Given the description of an element on the screen output the (x, y) to click on. 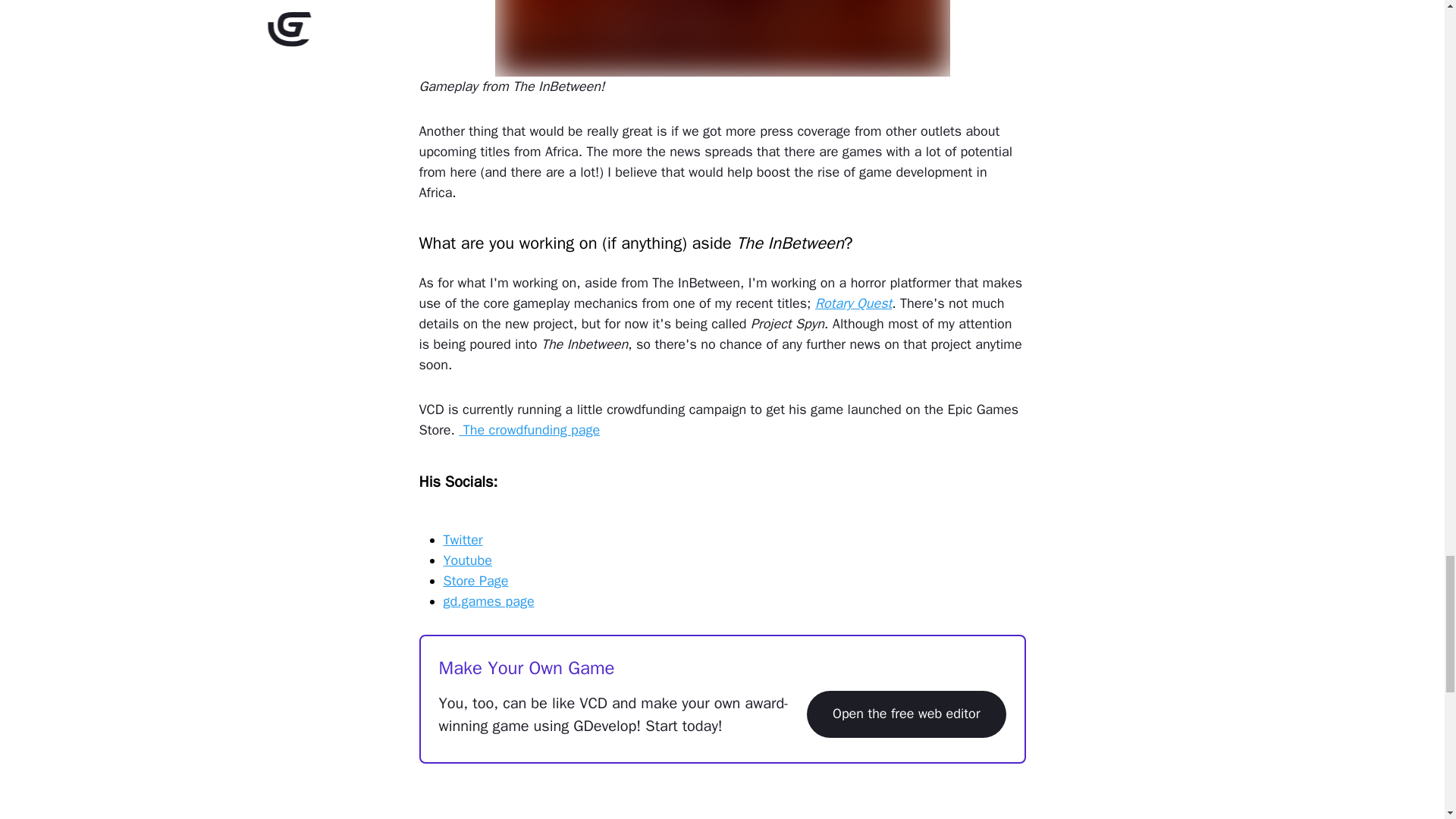
Open the free web editor (906, 714)
Rotary Quest (853, 303)
Youtube (467, 560)
The crowdfunding page (528, 429)
Open the free web editor (906, 714)
gd.games page (488, 600)
Open the free web editor (906, 714)
Store Page (475, 580)
Twitter (461, 539)
